Given the description of an element on the screen output the (x, y) to click on. 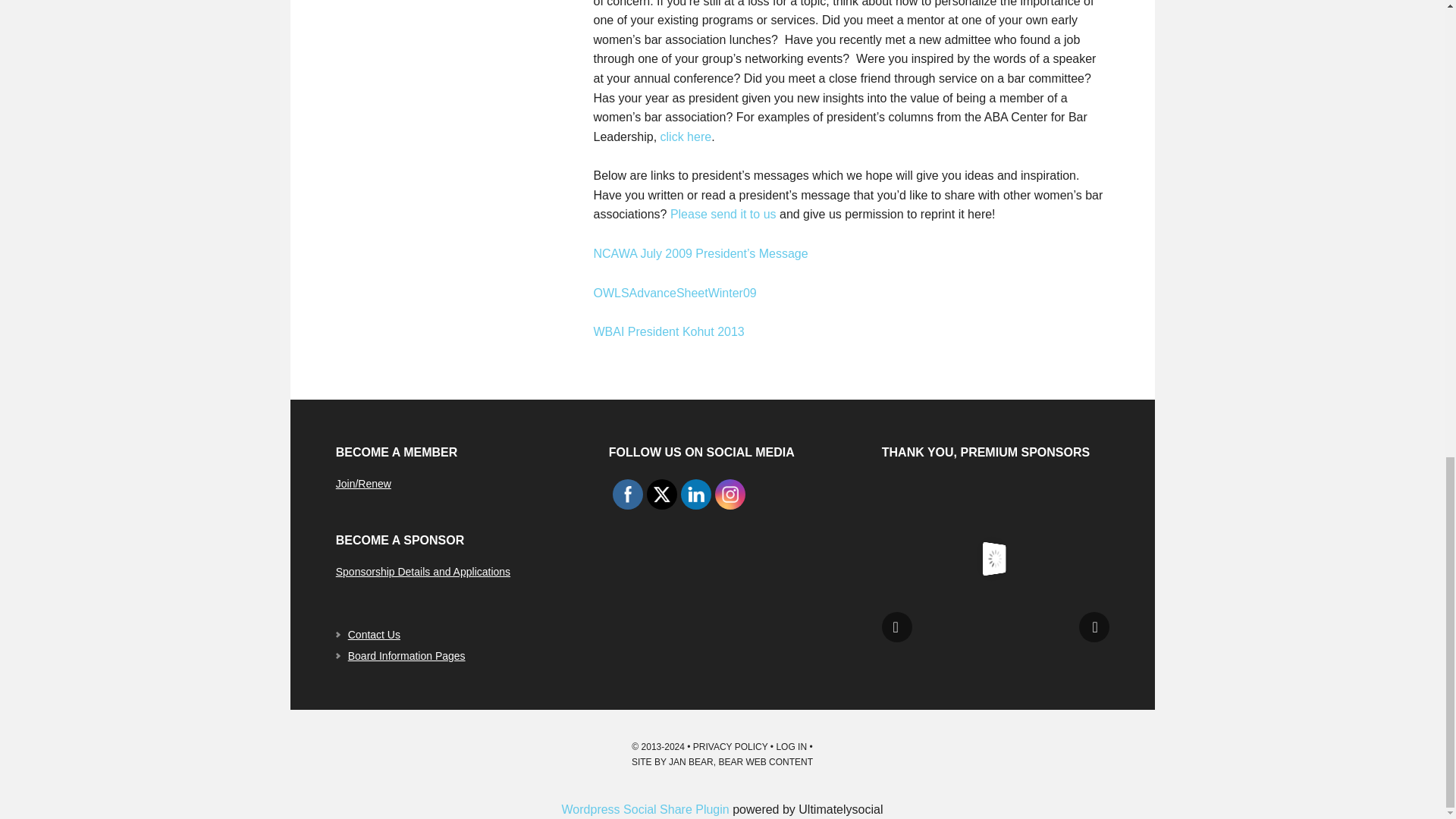
Bear Web Content (764, 761)
Privacy Policy (730, 747)
Log In (791, 747)
LinkedIn (695, 494)
Twitter (661, 494)
Instagram (730, 494)
Facebook (628, 494)
